Given the description of an element on the screen output the (x, y) to click on. 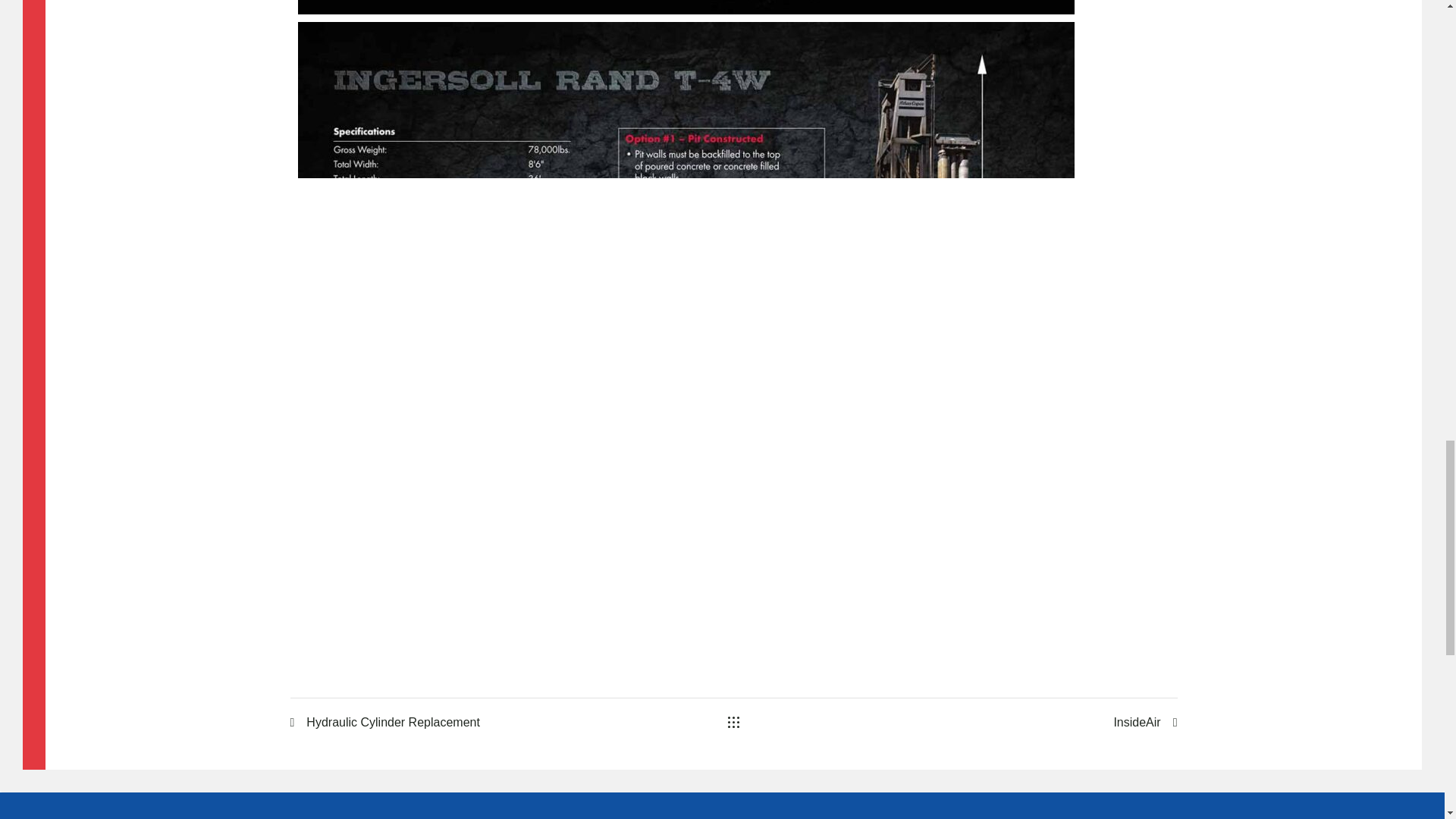
auger-watson - Elevator Drilling Services (685, 7)
InsideAir (1028, 722)
Hydraulic Cylinder Replacement (437, 722)
